Given the description of an element on the screen output the (x, y) to click on. 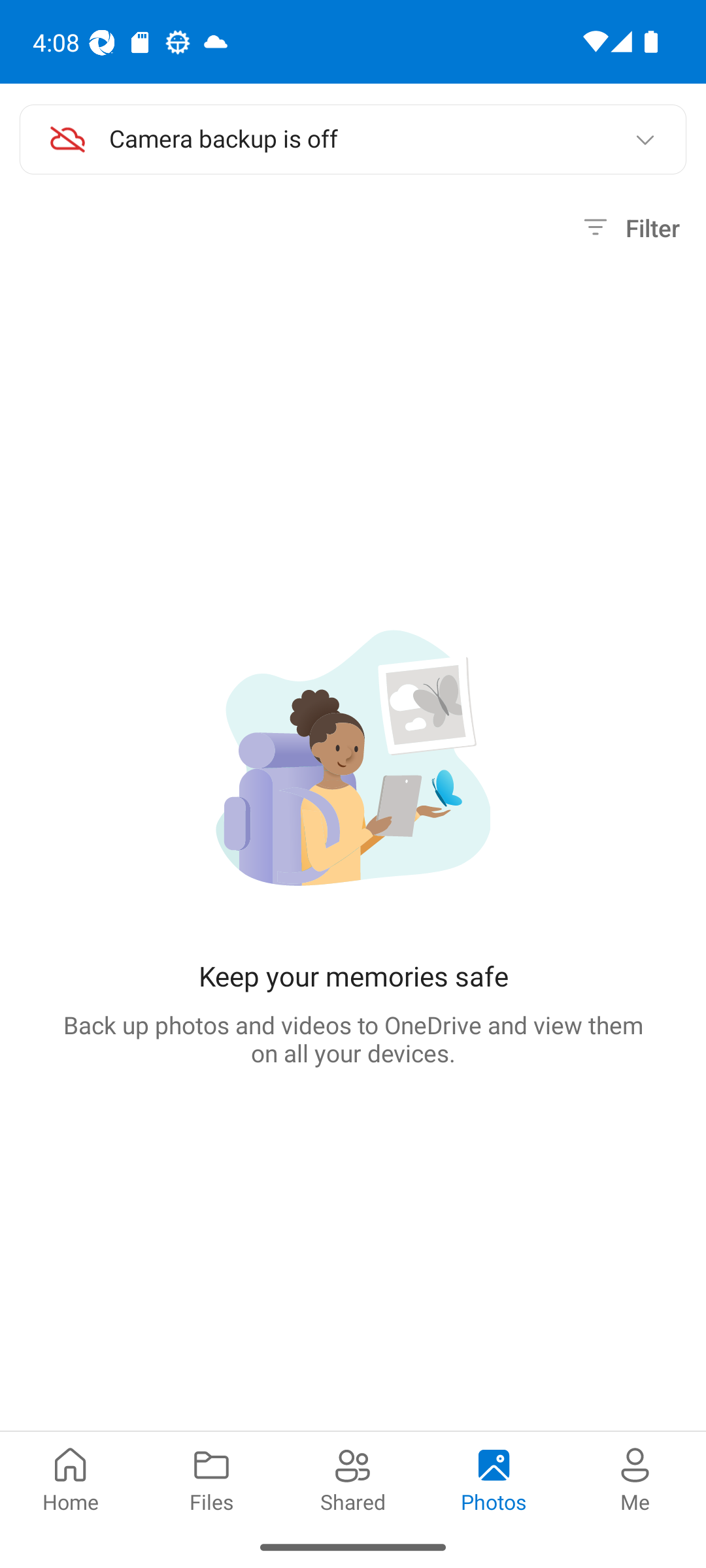
Expand camera status banner (645, 139)
Filter (628, 227)
Home pivot Home (70, 1478)
Files pivot Files (211, 1478)
Shared pivot Shared (352, 1478)
Me pivot Me (635, 1478)
